Given the description of an element on the screen output the (x, y) to click on. 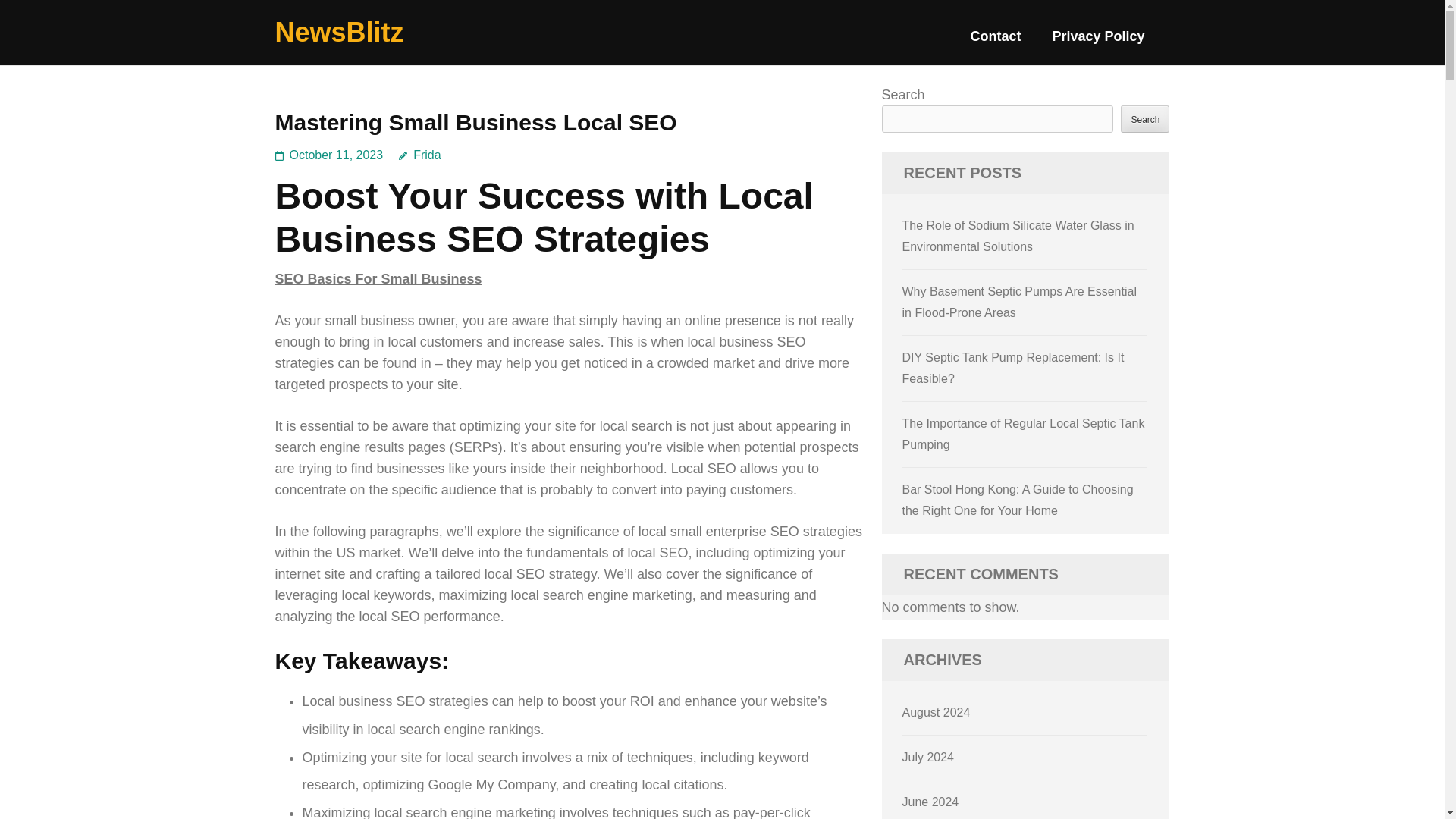
July 2024 (928, 757)
Privacy Policy (1097, 42)
October 11, 2023 (336, 154)
Why Basement Septic Pumps Are Essential in Flood-Prone Areas (1019, 302)
August 2024 (936, 712)
Contact (994, 42)
SEO Basics For Small Business (378, 278)
Frida (419, 154)
DIY Septic Tank Pump Replacement: Is It Feasible? (1013, 367)
